Given the description of an element on the screen output the (x, y) to click on. 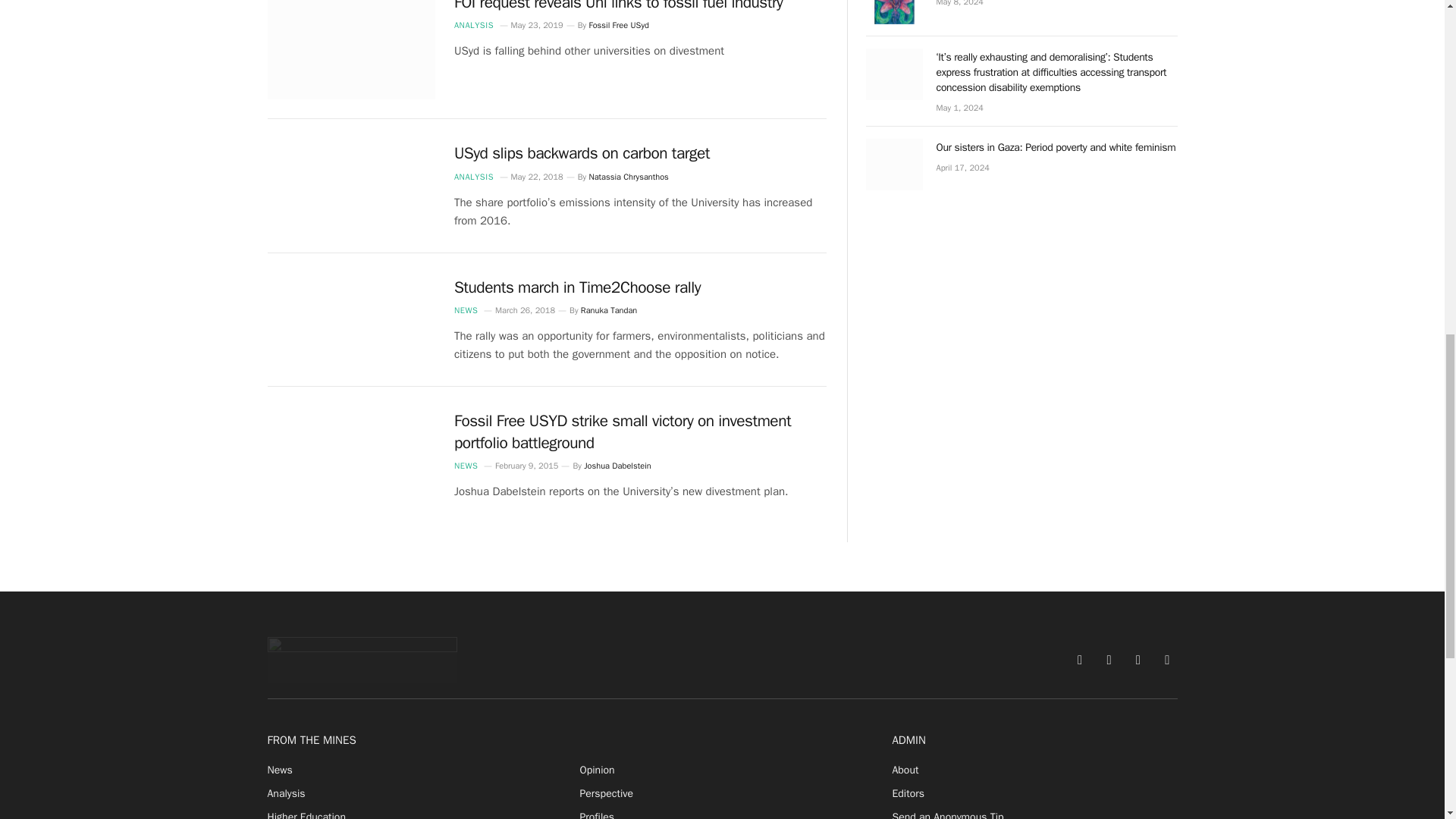
Posts by Natassia Chrysanthos (628, 176)
FOI request reveals Uni links to fossil fuel industry (349, 49)
Posts by Fossil Free USyd (618, 24)
Posts by Joshua Dabelstein (616, 465)
Posts by Ranuka Tandan (608, 309)
